Given the description of an element on the screen output the (x, y) to click on. 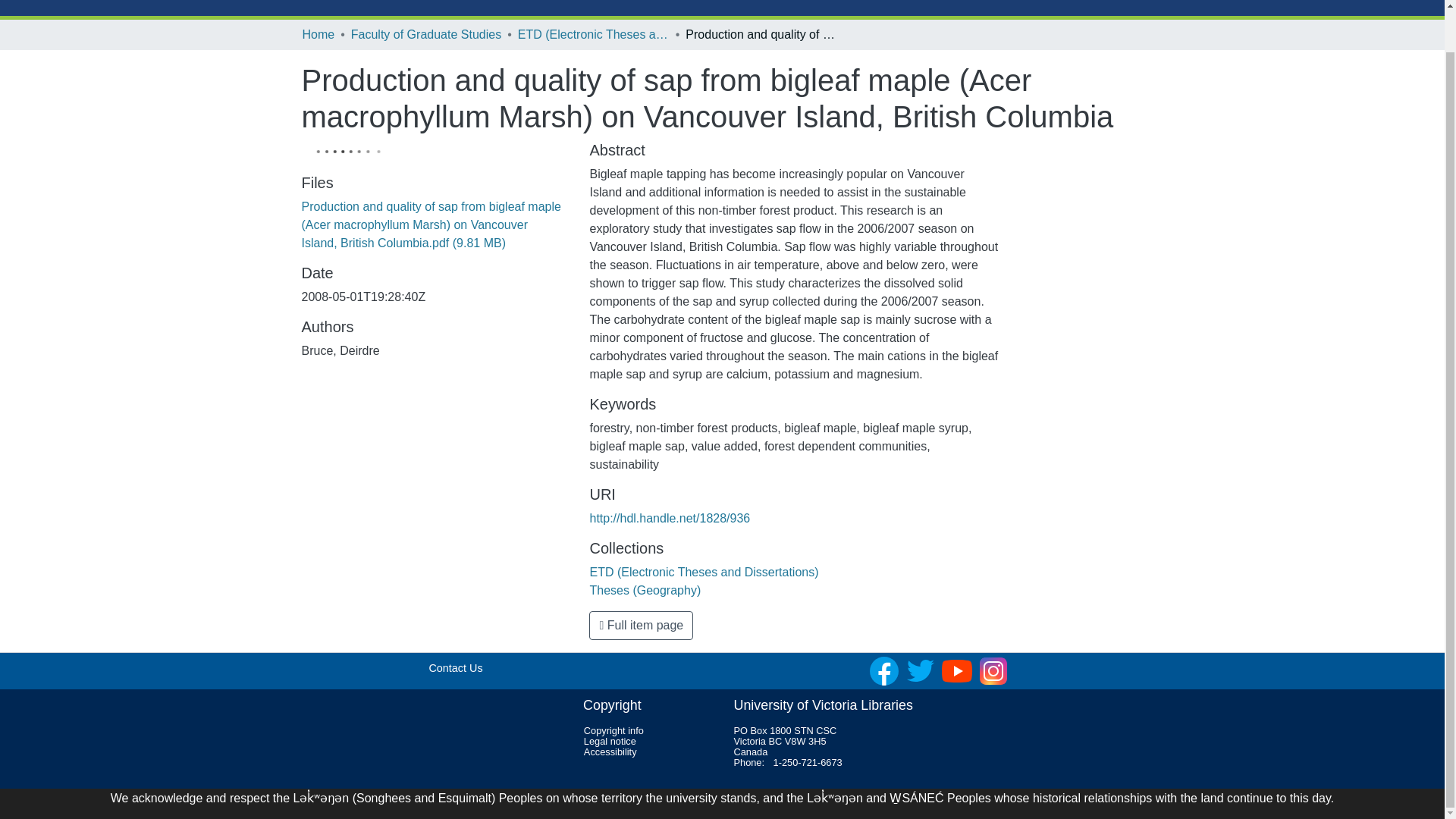
Faculty of Graduate Studies (425, 34)
Statistics (517, 0)
Home (317, 34)
Statistics (517, 0)
Contact Us (454, 667)
Full item page (641, 624)
